Given the description of an element on the screen output the (x, y) to click on. 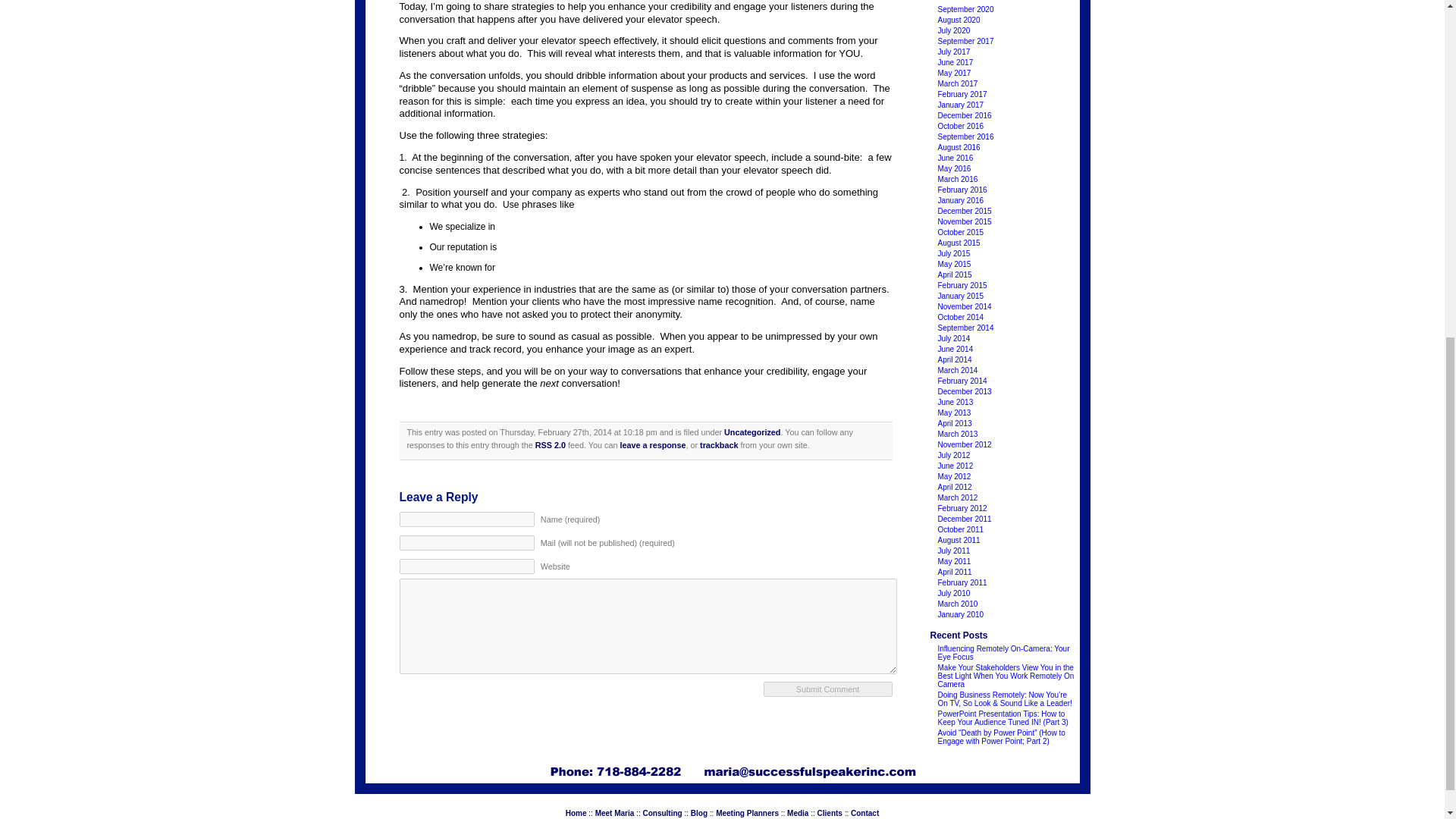
RSS 2.0 (550, 444)
Submit Comment (826, 688)
leave a response (652, 444)
Submit Comment (826, 688)
September 2020 (964, 8)
Uncategorized (751, 431)
trackback (719, 444)
